Given the description of an element on the screen output the (x, y) to click on. 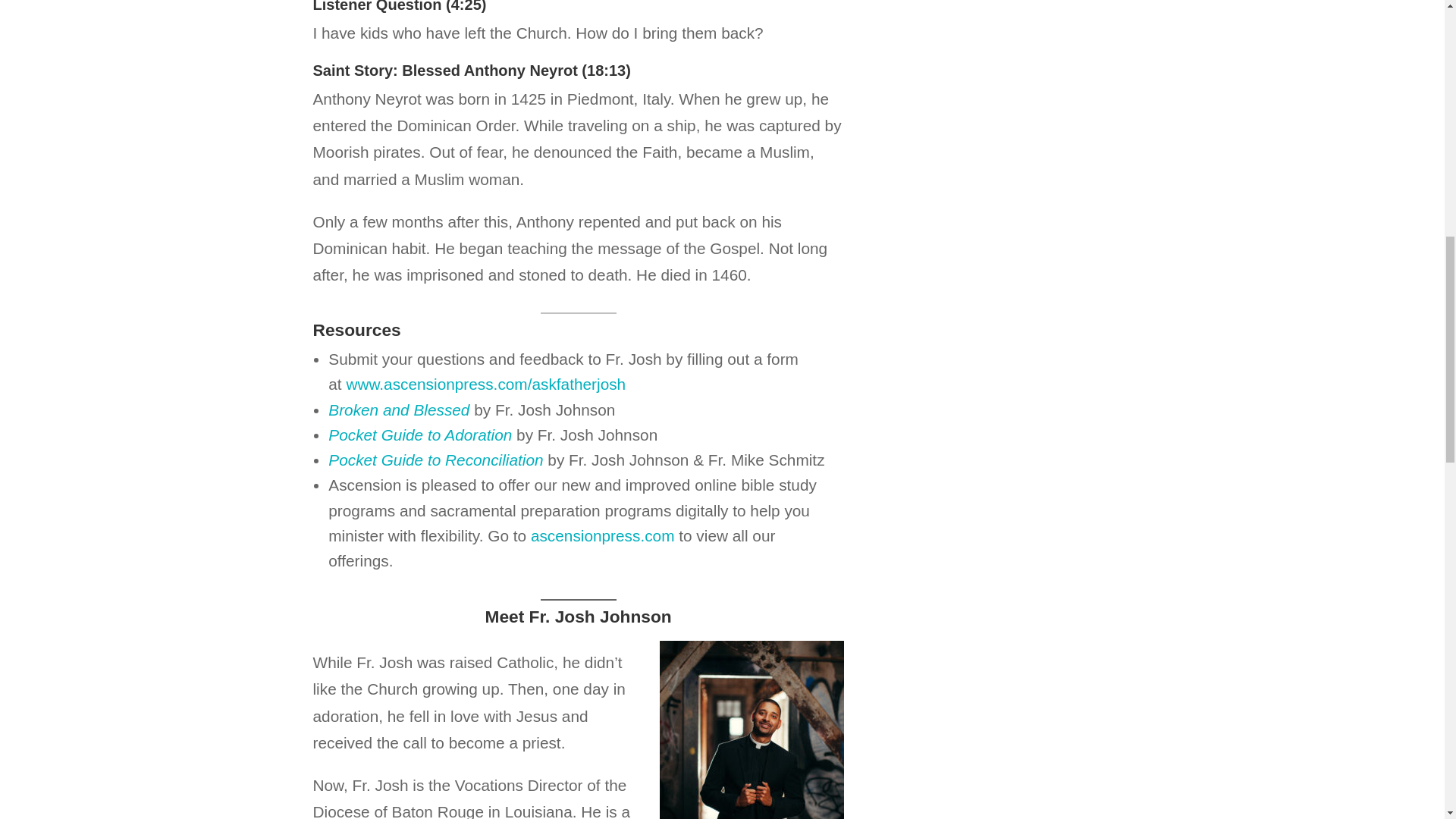
Pocket Guide to Adoration (420, 434)
 ascensionpress.com (599, 535)
Broken and Blessed (398, 409)
Pocket Guide to Reconciliation (436, 459)
